Given the description of an element on the screen output the (x, y) to click on. 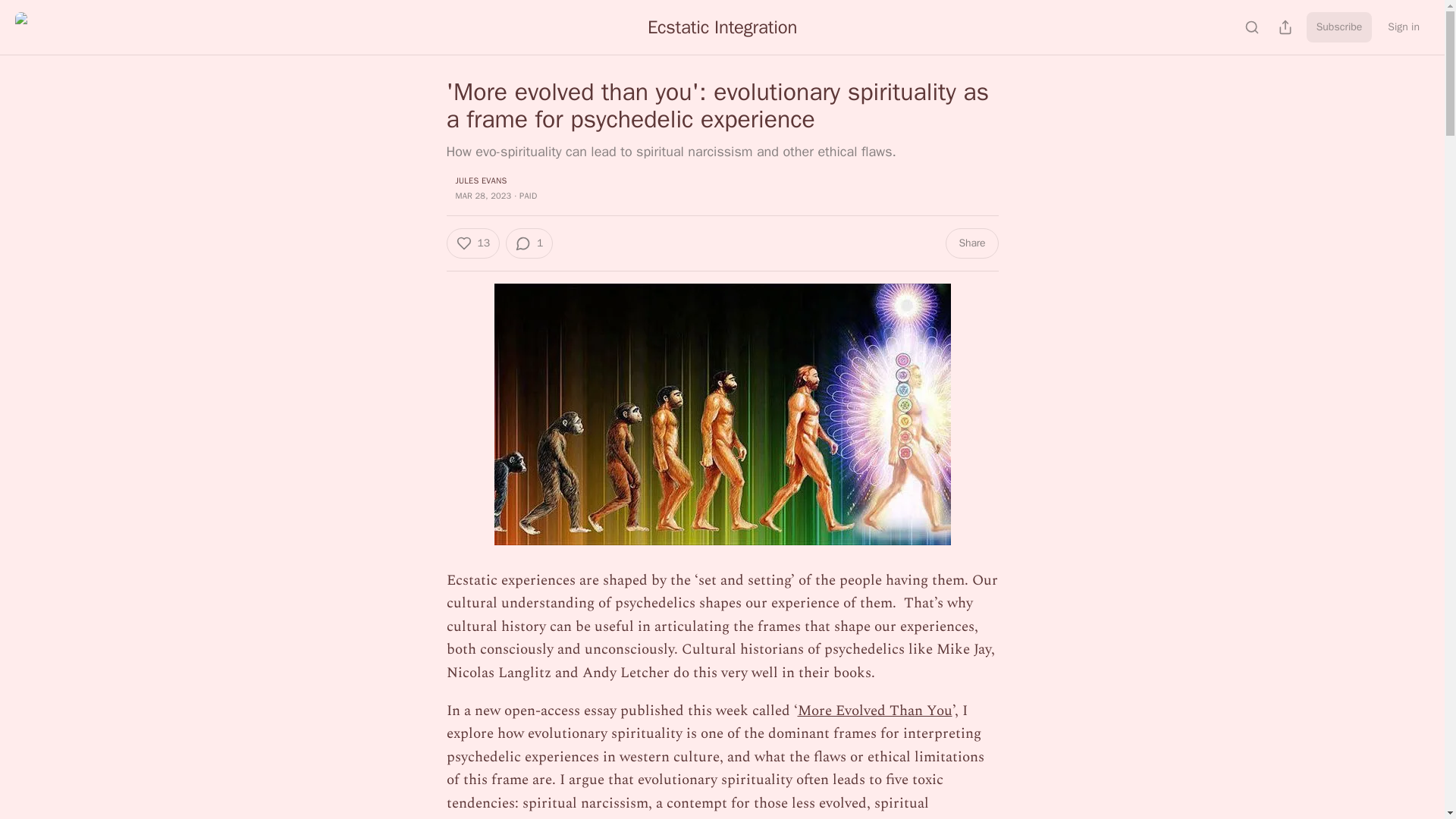
13 (472, 243)
Part 3: Your Office As An Incubator For Spiritual Evolution (722, 414)
JULES EVANS (480, 180)
Subscribe (1339, 27)
Sign in (1403, 27)
More Evolved Than You (874, 710)
1 (529, 243)
Ecstatic Integration (721, 26)
Share (970, 243)
